Given the description of an element on the screen output the (x, y) to click on. 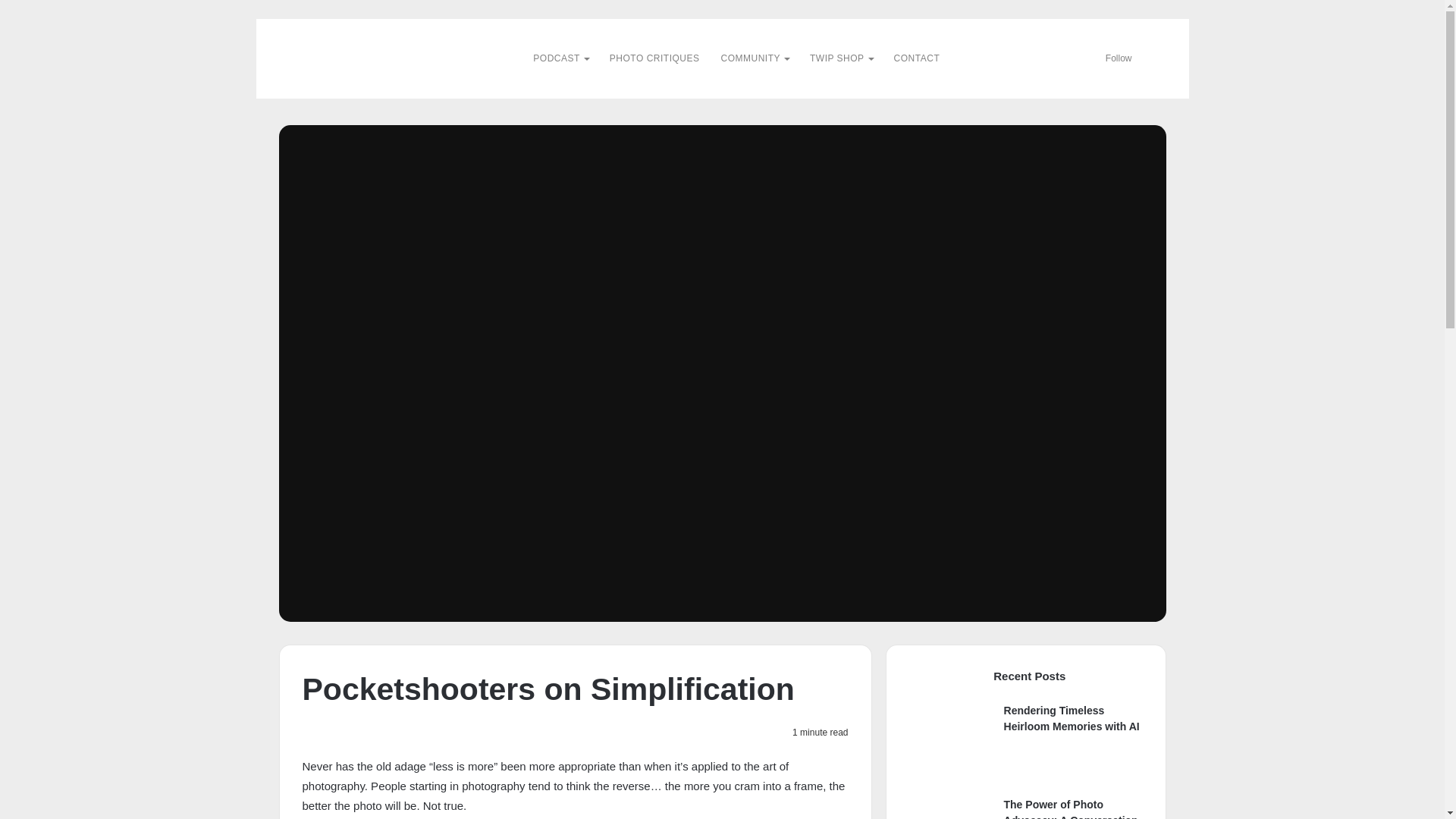
Follow (1113, 58)
Search for (1154, 58)
CONTACT (916, 58)
COMMUNITY (754, 58)
TWIP SHOP (841, 58)
PHOTO CRITIQUES (654, 58)
PODCAST (560, 58)
Rendering Timeless Heirloom Memories with AI (1072, 718)
